Given the description of an element on the screen output the (x, y) to click on. 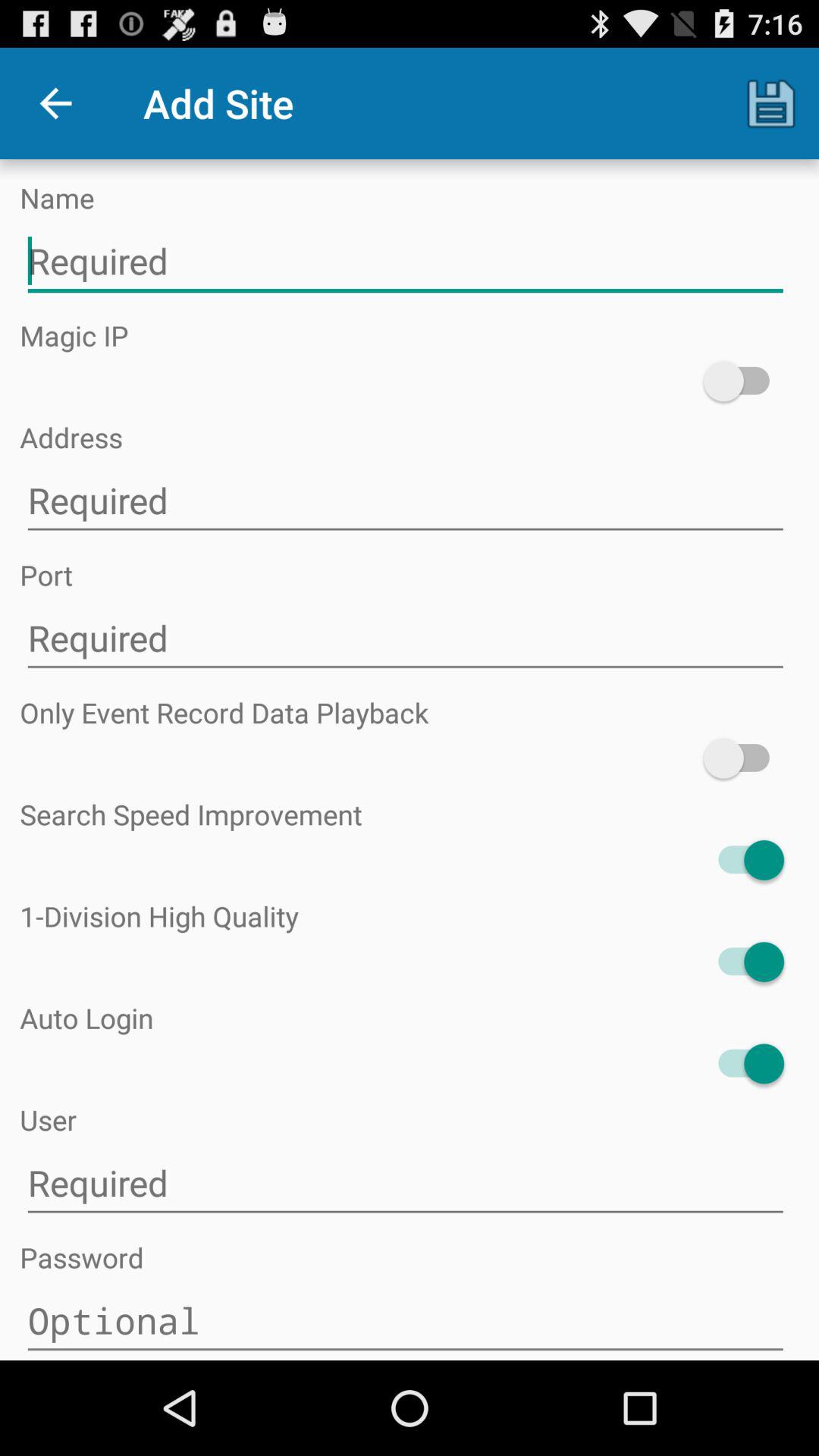
text box (405, 261)
